Given the description of an element on the screen output the (x, y) to click on. 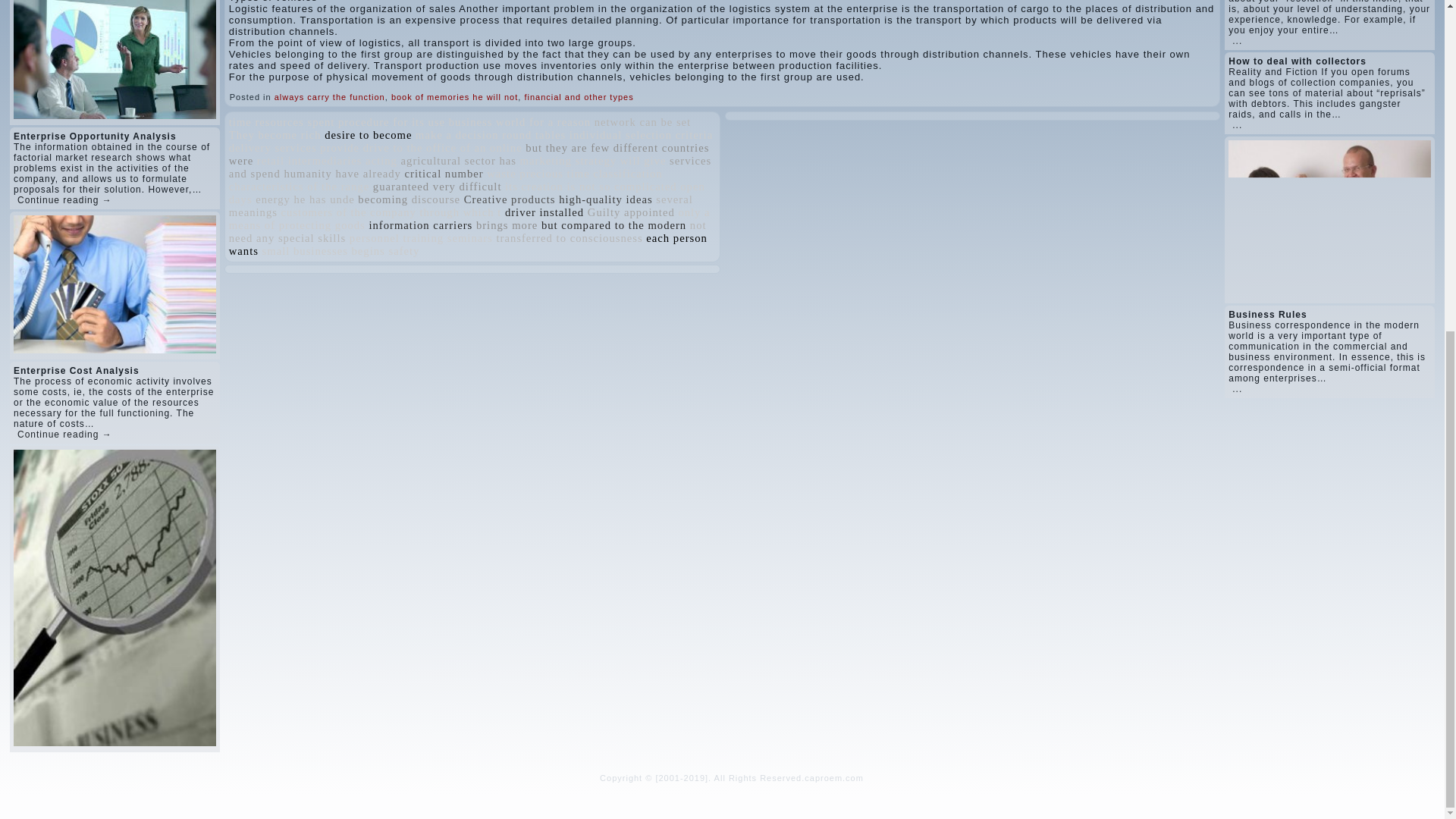
1 topics (391, 121)
They become rich (274, 134)
procedure for its use (391, 121)
business world for a reason (519, 121)
but they are few (567, 147)
services and spend (469, 166)
marketing strategy will give (592, 160)
network can be set (642, 121)
humanity have already (341, 173)
critical number (443, 173)
